Given the description of an element on the screen output the (x, y) to click on. 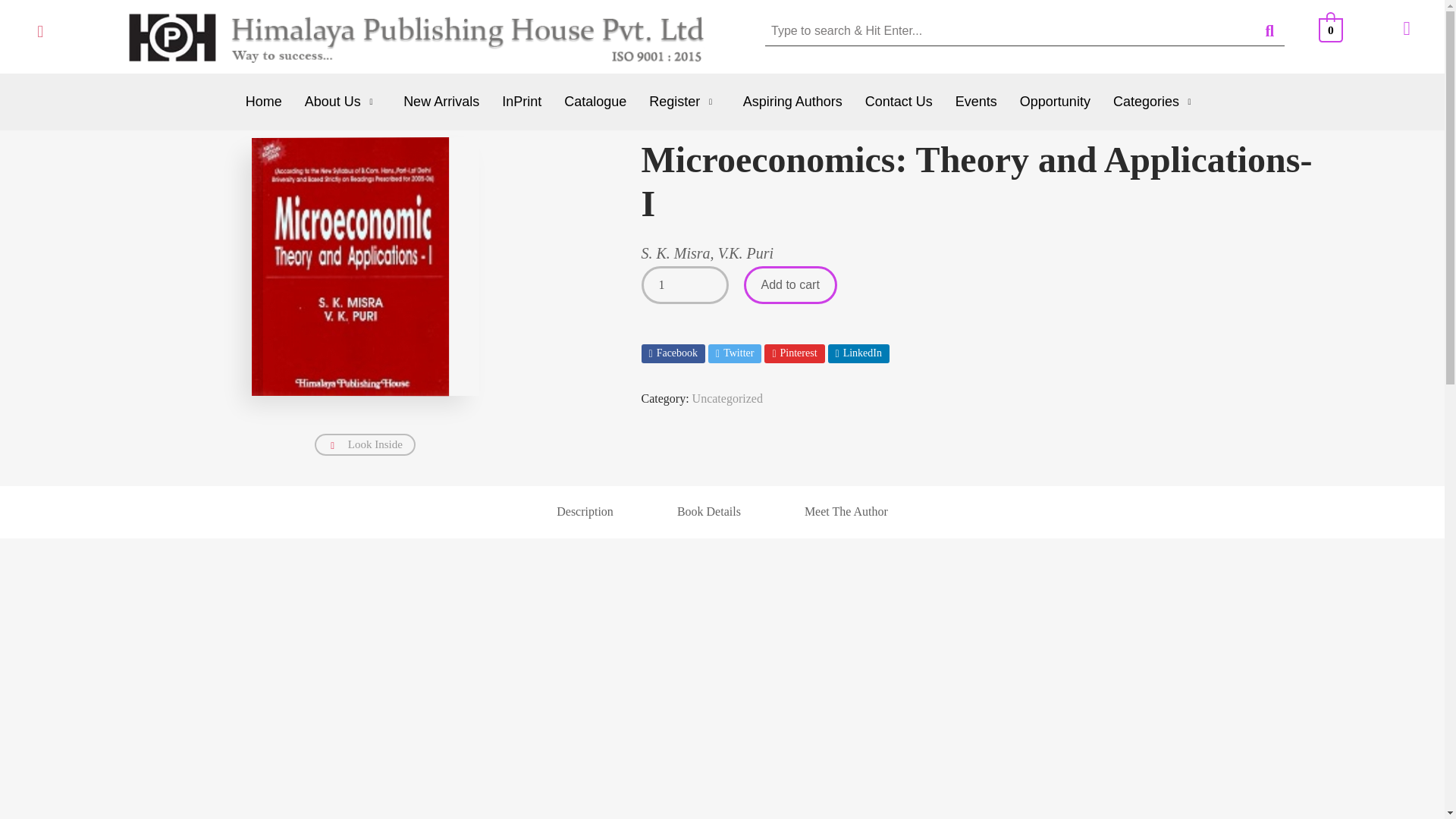
0 (1331, 28)
Search (1009, 30)
1 (685, 284)
About Us (342, 101)
Home (264, 101)
View your shopping cart (1331, 28)
